Given the description of an element on the screen output the (x, y) to click on. 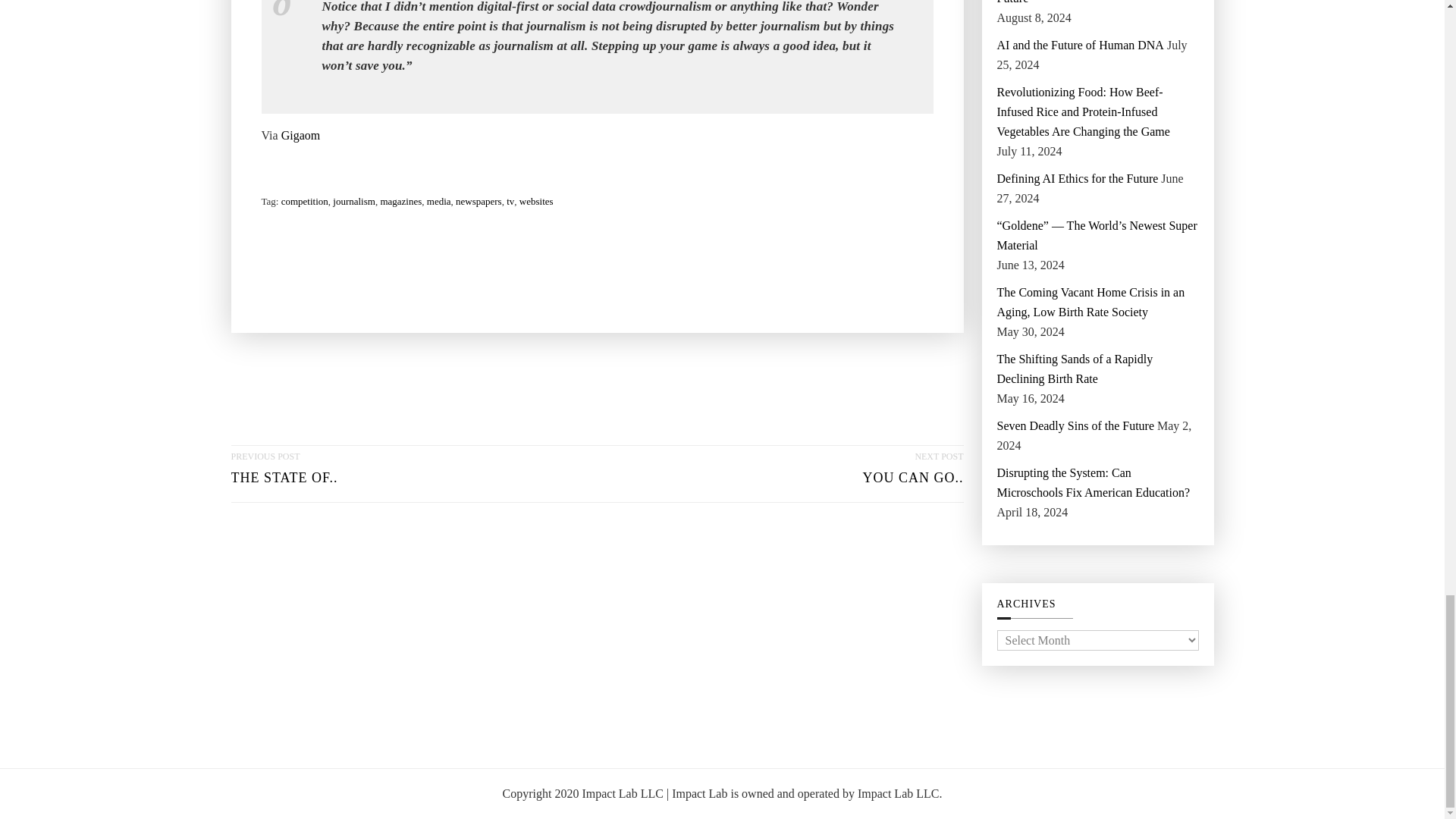
websites (536, 201)
competition (305, 201)
media (283, 473)
newspapers (438, 201)
Gigaom (478, 201)
magazines (913, 473)
journalism (300, 135)
